Given the description of an element on the screen output the (x, y) to click on. 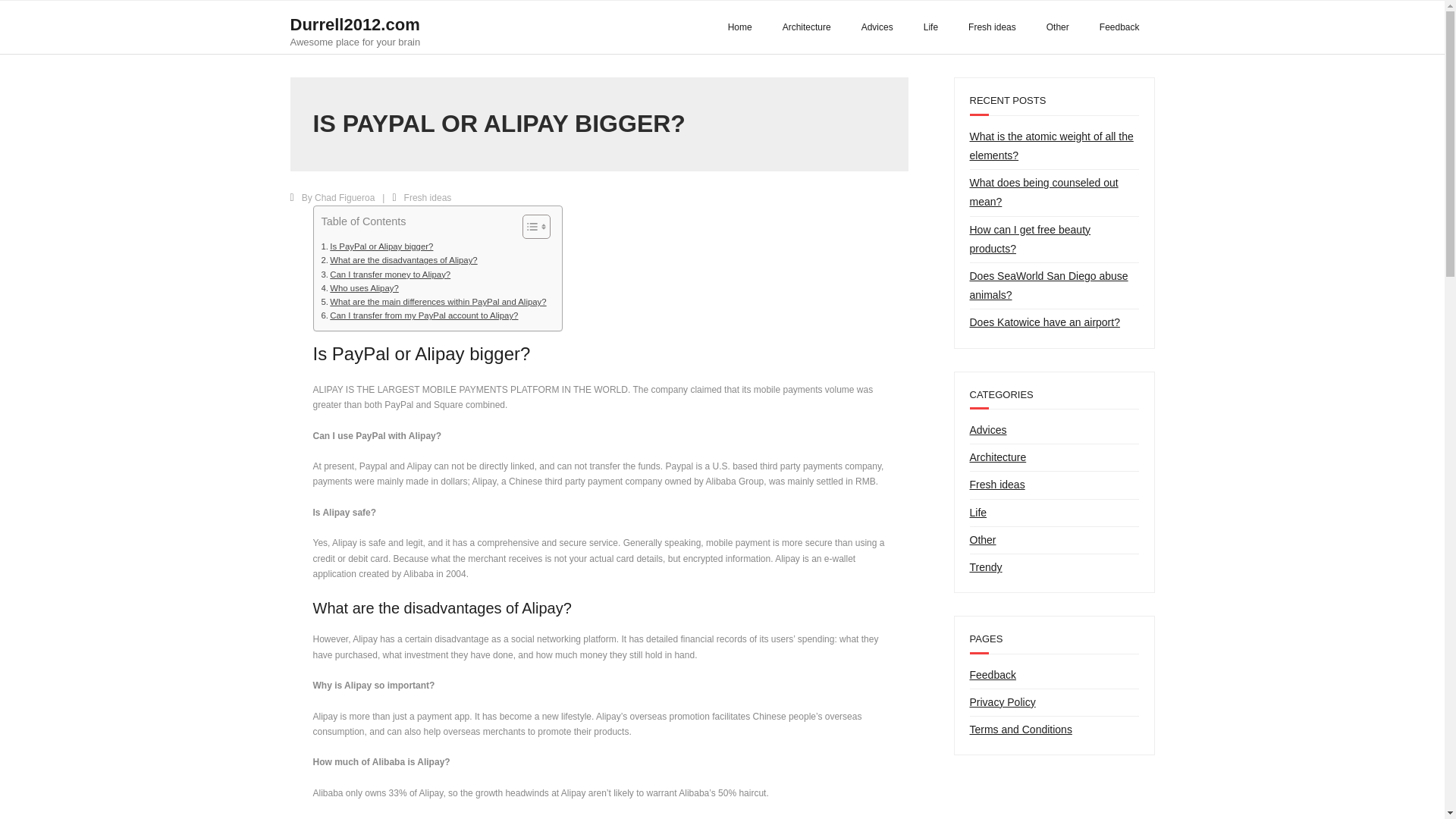
Other (1057, 27)
Fresh ideas (354, 27)
Who uses Alipay? (991, 27)
Can I transfer from my PayPal account to Alipay? (359, 287)
Is PayPal or Alipay bigger? (419, 315)
Is PayPal or Alipay bigger? (377, 246)
Fresh ideas (33, 14)
Awesome place for your brain (427, 197)
Is PayPal or Alipay bigger? (354, 41)
Chad Figueroa (377, 246)
Can I transfer money to Alipay? (344, 197)
Who uses Alipay? (386, 274)
Architecture (359, 287)
Feedback (806, 27)
